Given the description of an element on the screen output the (x, y) to click on. 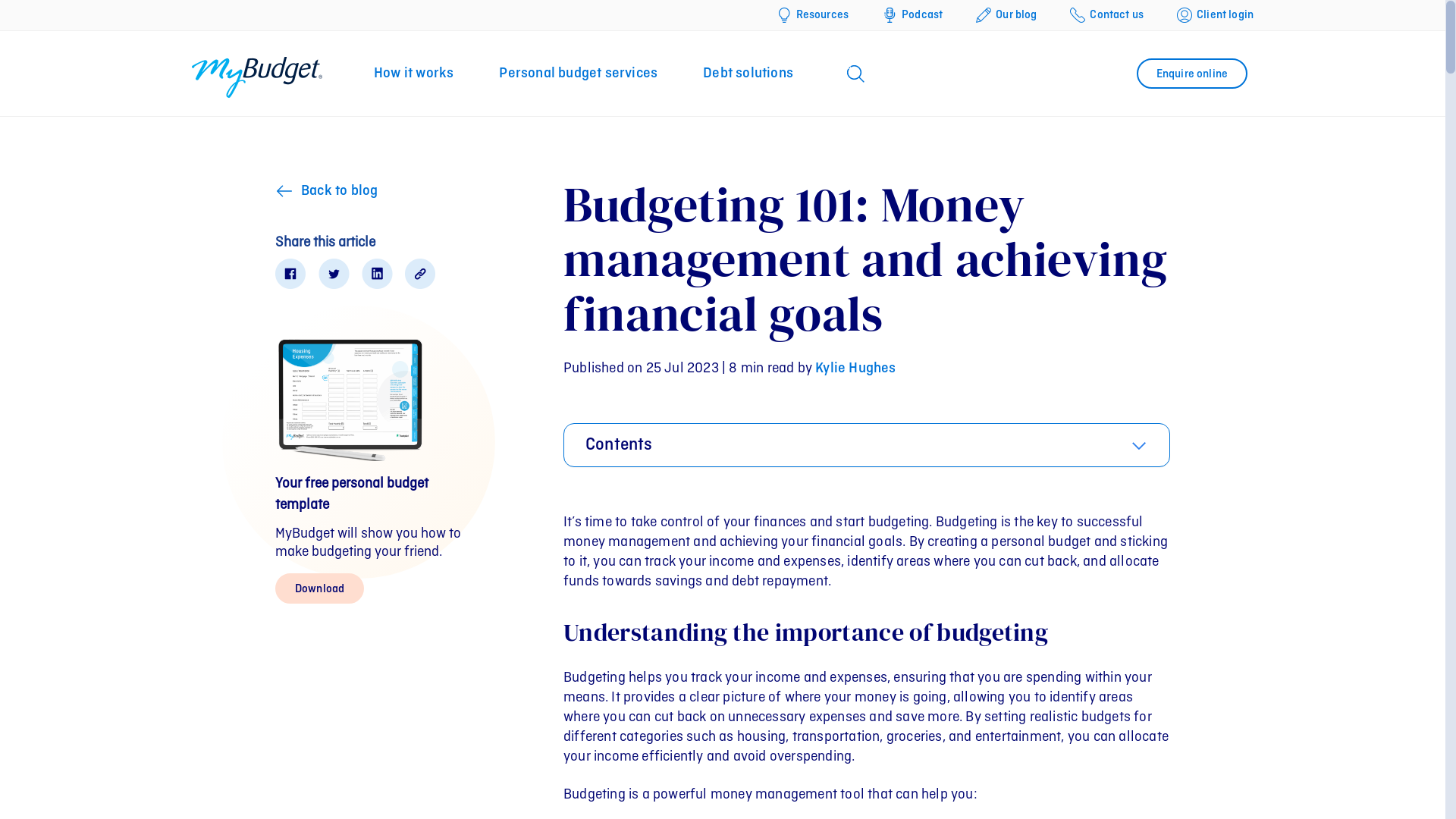
Enquire online Element type: text (1191, 73)
Back to blog Element type: text (330, 190)
mb-logo Element type: hover (256, 76)
mb-blog-rsrcs Element type: hover (350, 397)
Search Element type: text (22, 14)
Our blog Element type: text (1005, 14)
Contact us Element type: text (1106, 14)
Client login Element type: text (1214, 14)
Debt solutions Element type: text (747, 73)
Search Element type: text (1192, 155)
Download Element type: text (319, 588)
Personal budget services Element type: text (577, 73)
How it works Element type: text (413, 73)
Kylie Hughes Element type: text (855, 368)
Resources Element type: text (812, 14)
Podcast Element type: text (911, 14)
